Given the description of an element on the screen output the (x, y) to click on. 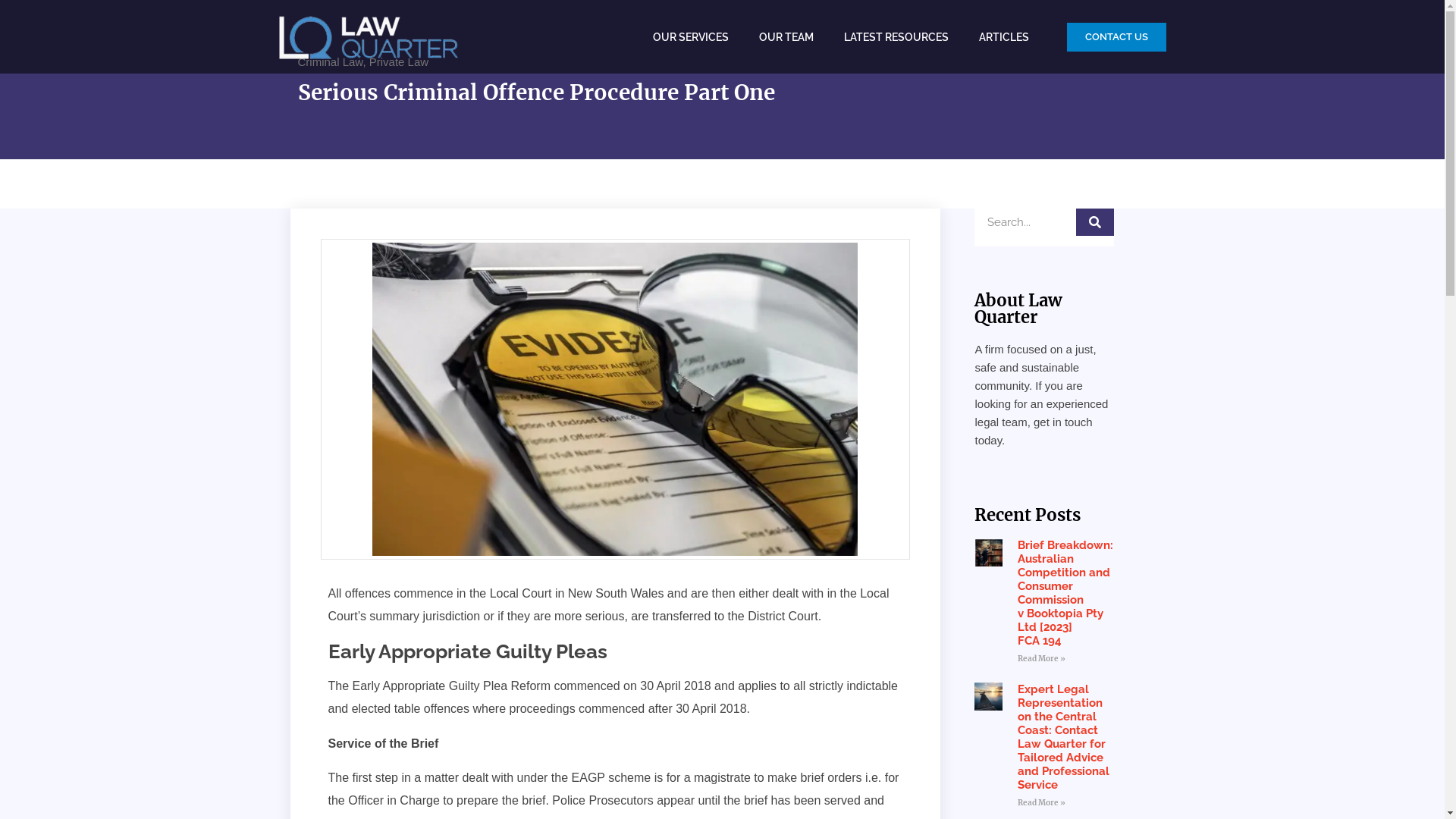
Criminal Law Element type: text (329, 61)
Private Law Element type: text (398, 61)
CONTACT US Element type: text (1115, 36)
ARTICLES Element type: text (1003, 36)
LATEST RESOURCES Element type: text (895, 36)
OUR TEAM Element type: text (785, 36)
Chatbot Element type: hover (1383, 757)
OUR SERVICES Element type: text (690, 36)
